Given the description of an element on the screen output the (x, y) to click on. 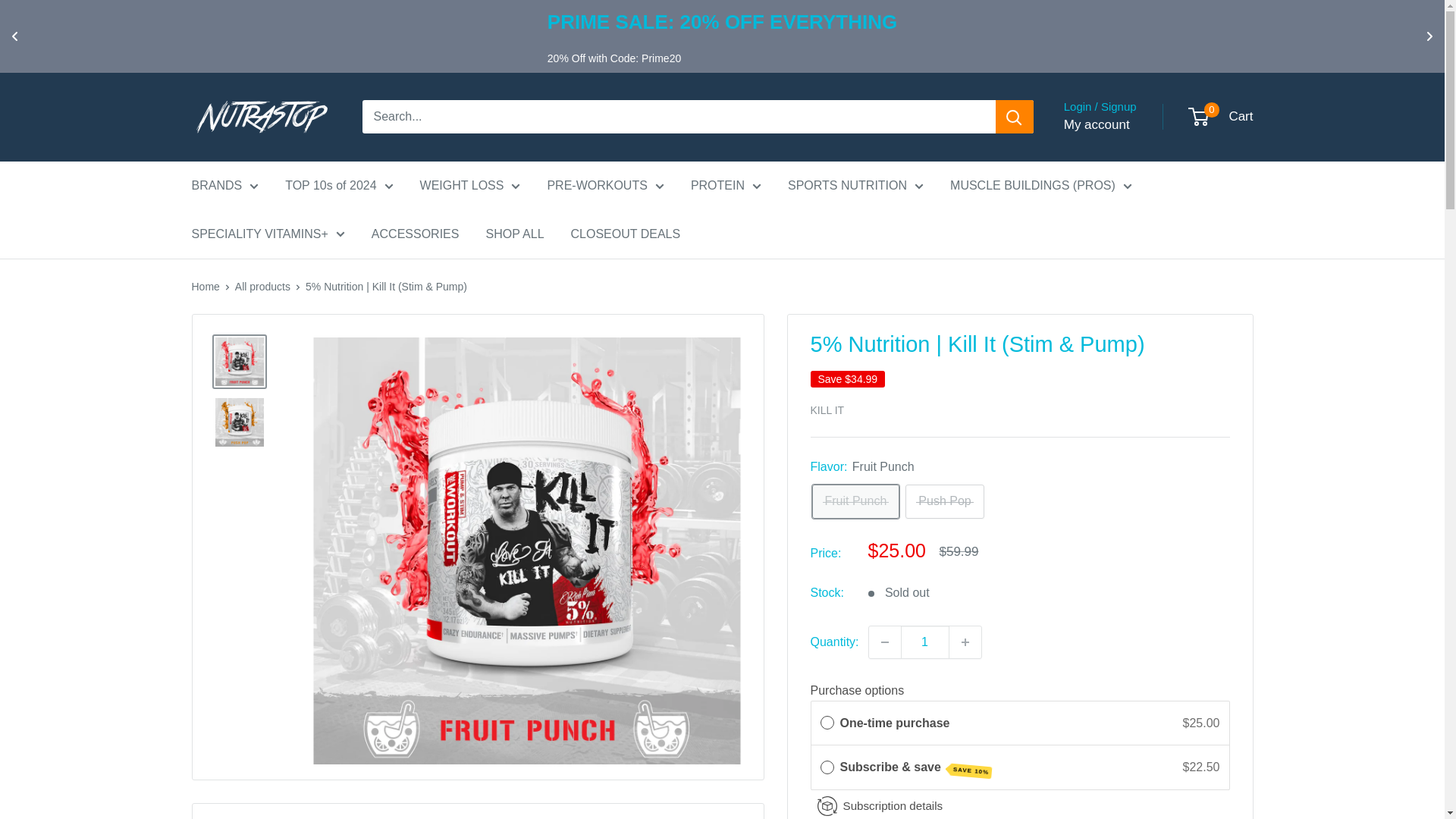
1 (925, 642)
Push Pop (944, 501)
Decrease quantity by 1 (885, 642)
Increase quantity by 1 (965, 642)
Fruit Punch (854, 501)
